Given the description of an element on the screen output the (x, y) to click on. 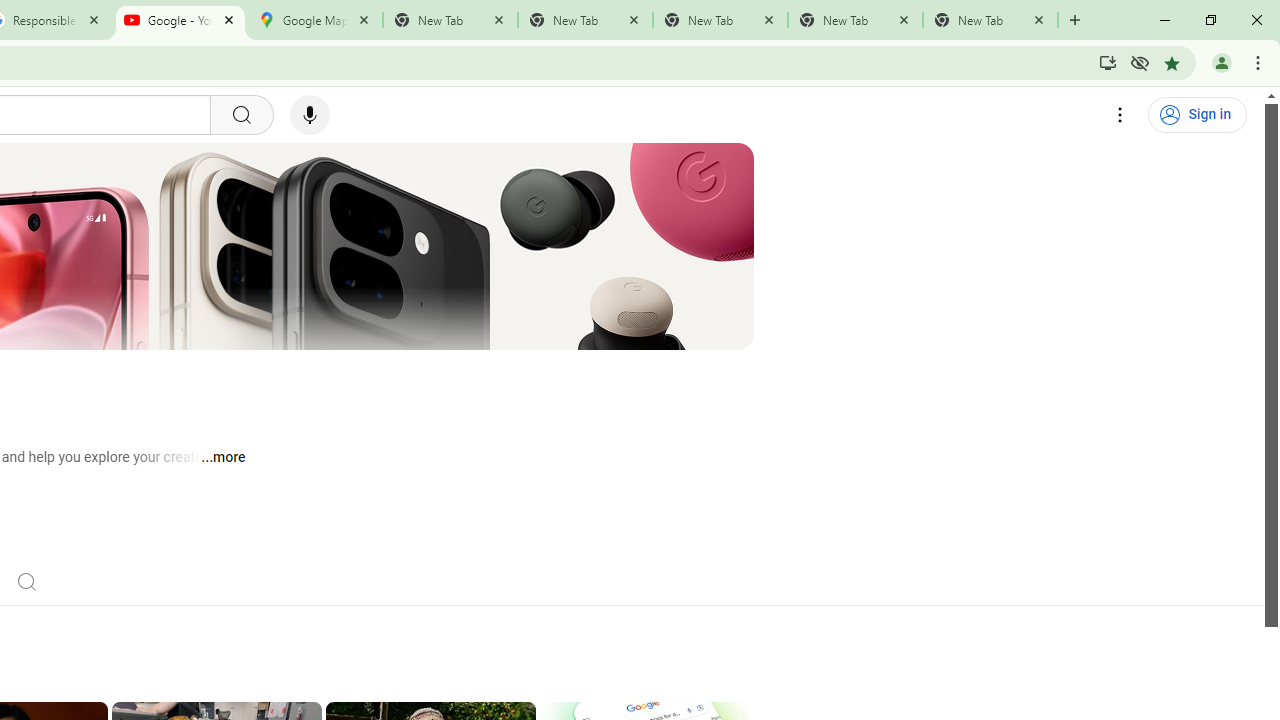
Google Maps (315, 20)
Google - YouTube (180, 20)
Search with your voice (309, 115)
